Given the description of an element on the screen output the (x, y) to click on. 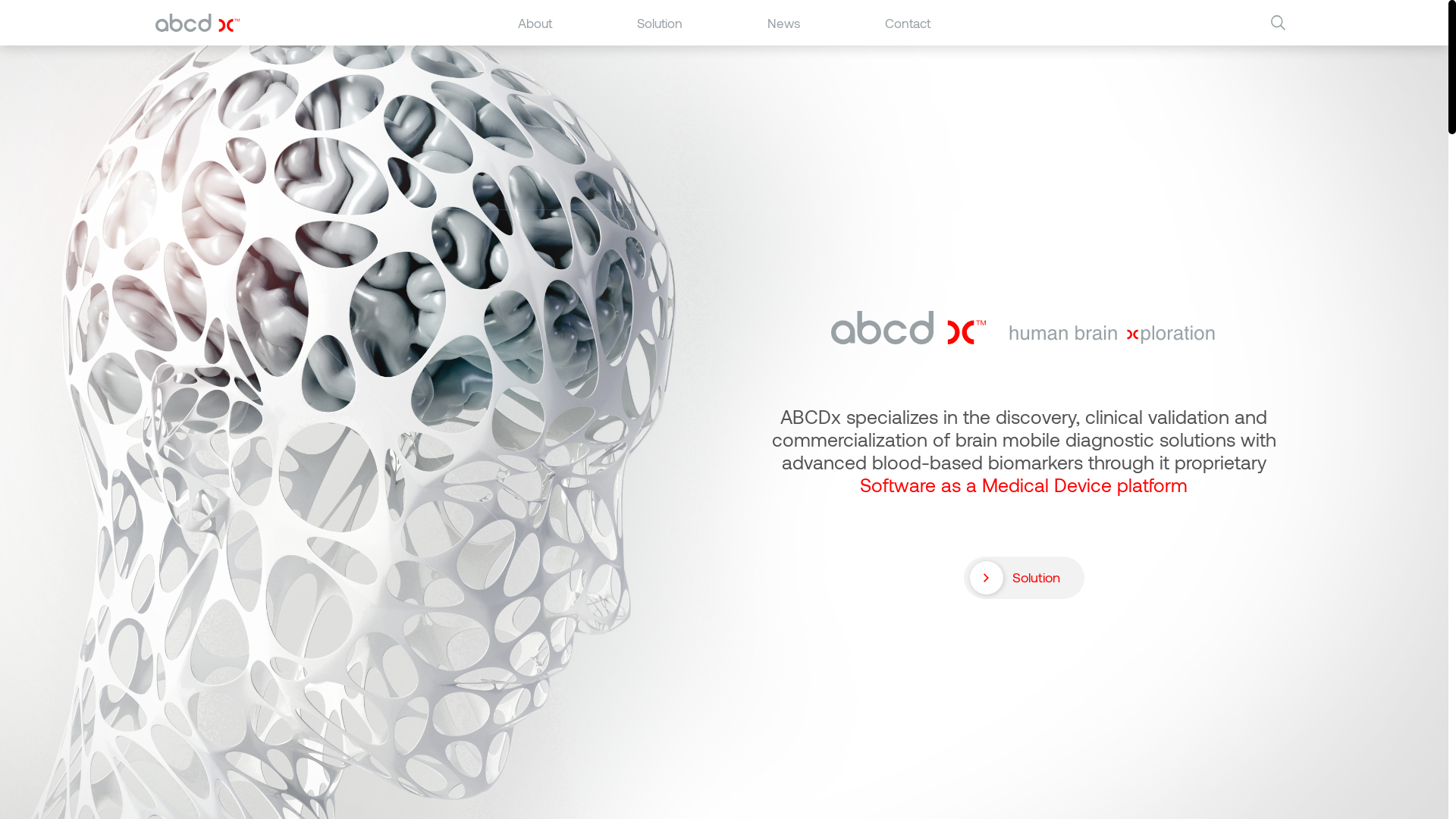
Contact Element type: text (907, 22)
Solution Element type: text (1023, 577)
Solution Element type: text (659, 22)
About Element type: text (534, 22)
News Element type: text (783, 22)
